Given the description of an element on the screen output the (x, y) to click on. 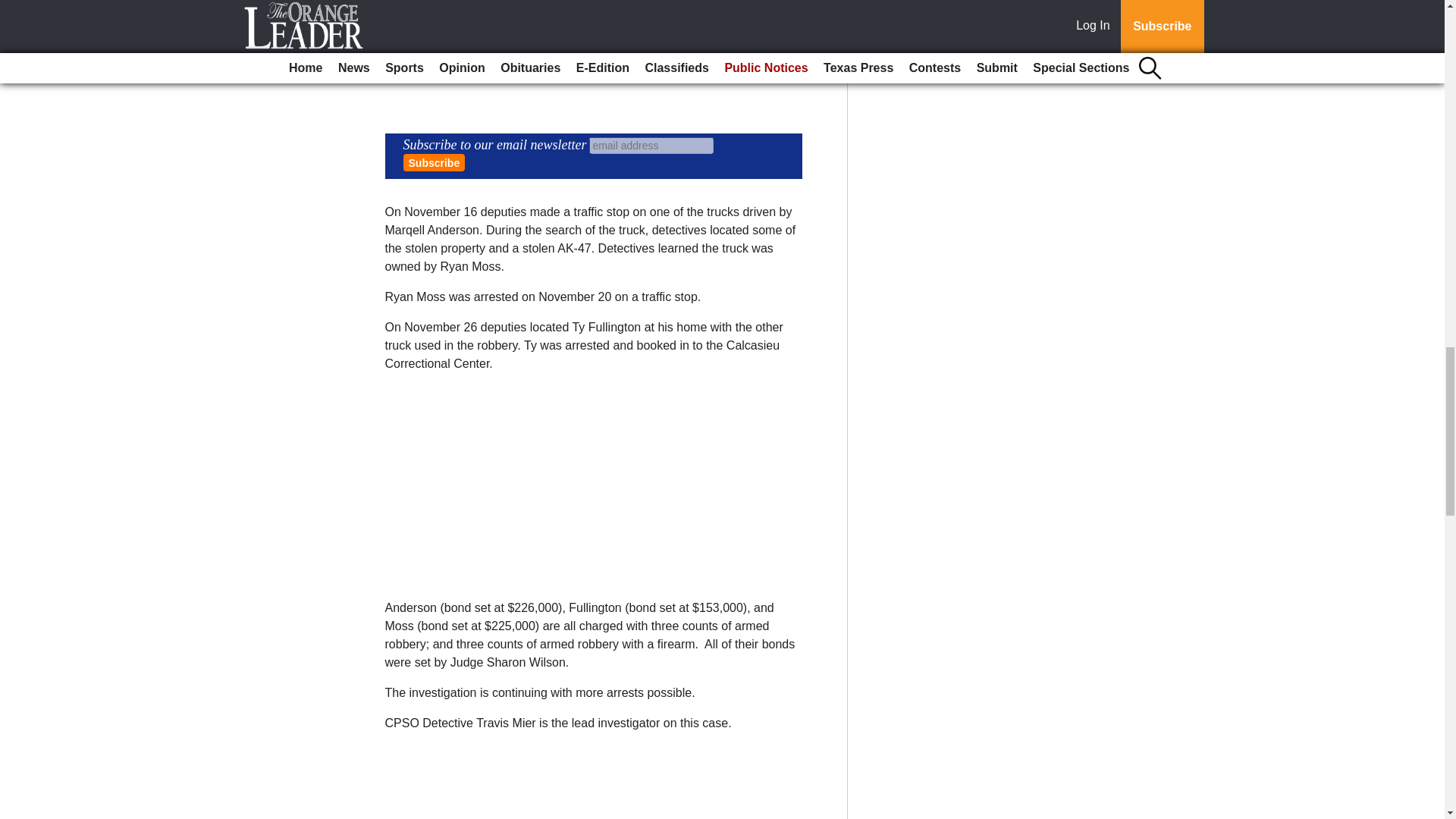
Subscribe (434, 162)
Subscribe (434, 162)
